Given the description of an element on the screen output the (x, y) to click on. 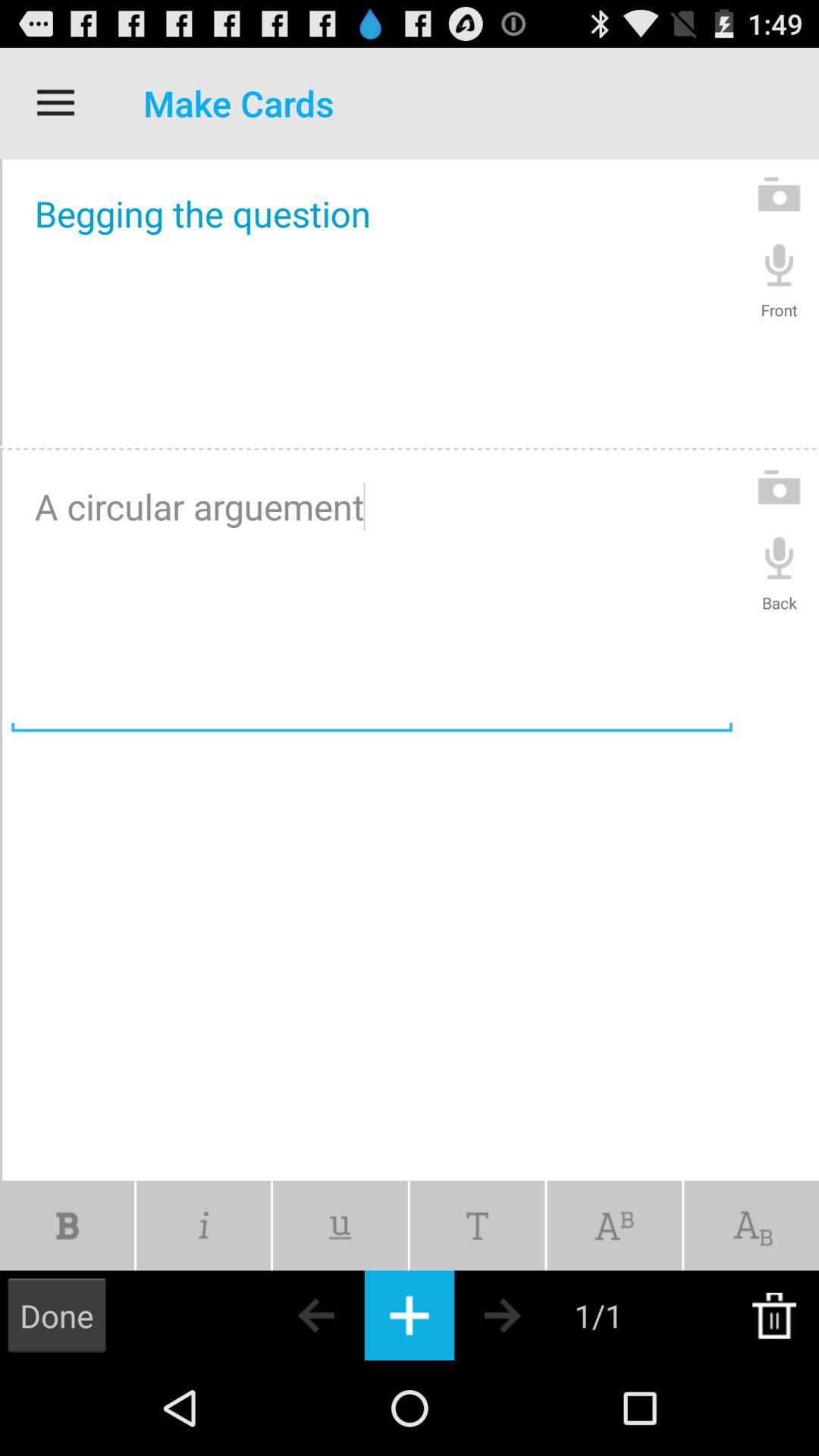
use microphone to add content (779, 557)
